Given the description of an element on the screen output the (x, y) to click on. 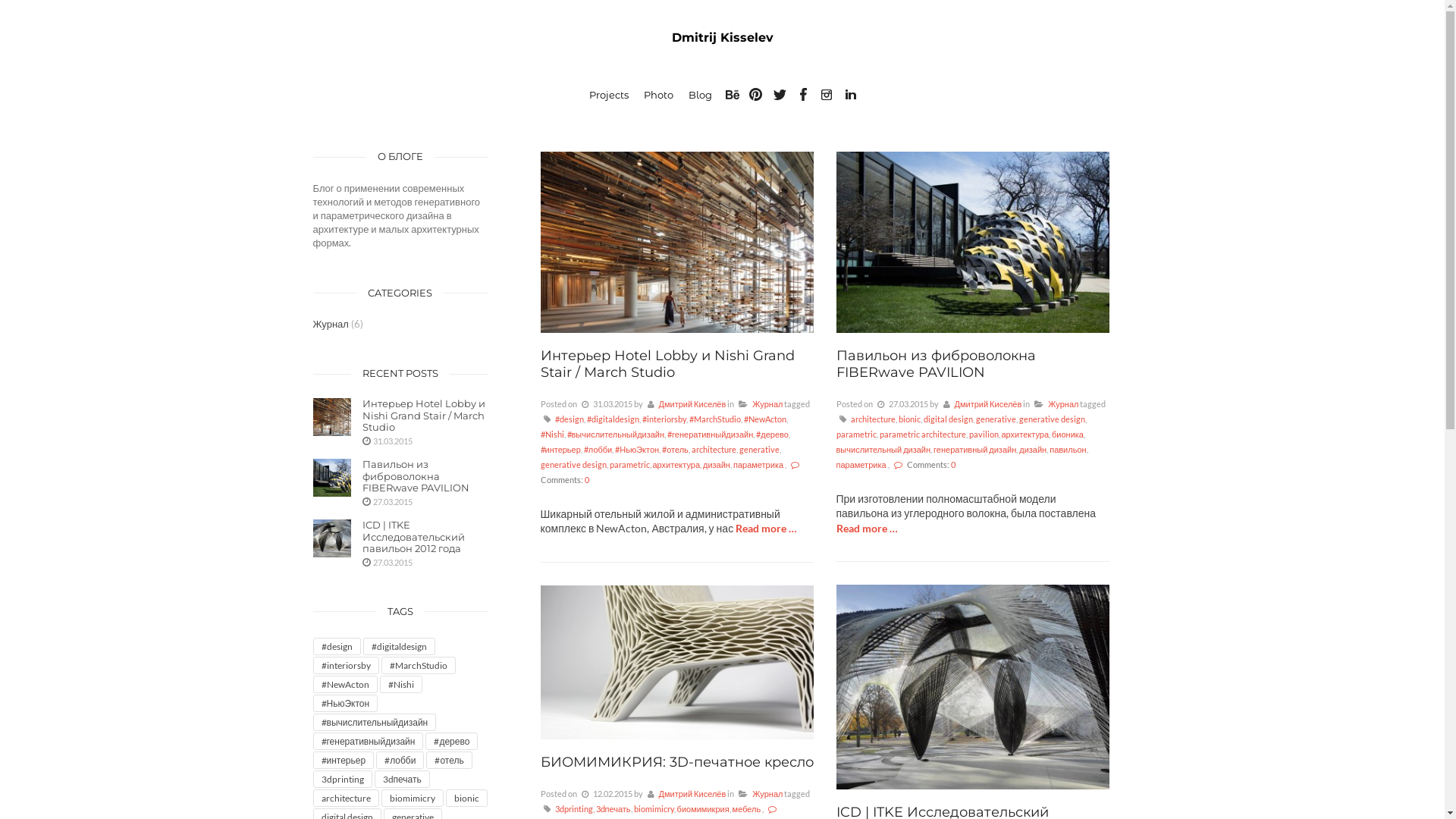
#design Element type: text (569, 418)
Blog Element type: text (700, 94)
3dprinting Element type: text (341, 778)
3dprinting Element type: text (574, 808)
Comments: 0 Element type: text (923, 464)
parametric architecture Element type: text (922, 434)
bionic Element type: text (466, 797)
#interiorsby Element type: text (663, 418)
pavilion Element type: text (983, 434)
biomimicry Element type: text (411, 797)
#digitaldesign Element type: text (612, 418)
Follow us on Pinterest Element type: hover (755, 94)
digital design Element type: text (947, 418)
Comments: 0 Element type: text (670, 471)
#Nishi Element type: text (551, 434)
biomimicry Element type: text (653, 808)
bionic Element type: text (908, 418)
Photo Element type: text (658, 94)
Follow us on Linkedin Element type: hover (849, 94)
#digitaldesign Element type: text (398, 646)
Projects Element type: text (608, 94)
Follow us on Instagram Element type: hover (826, 94)
architecture Element type: text (713, 449)
#NewActon Element type: text (344, 684)
Follow us on Facebook Element type: hover (802, 94)
Follow us on Twitter Element type: hover (779, 94)
#MarchStudio Element type: text (417, 665)
#interiorsby Element type: text (345, 665)
#NewActon Element type: text (764, 418)
architecture Element type: text (345, 797)
architecture Element type: text (872, 418)
#MarchStudio Element type: text (714, 418)
generative Element type: text (759, 449)
generative Element type: text (995, 418)
generative design Element type: text (572, 464)
generative design Element type: text (1052, 418)
parametric Element type: text (629, 464)
parametric Element type: text (855, 434)
#design Element type: text (336, 646)
Follow us on Behance Element type: hover (732, 94)
Dmitrij Kisselev Element type: text (722, 37)
#Nishi Element type: text (400, 684)
